Given the description of an element on the screen output the (x, y) to click on. 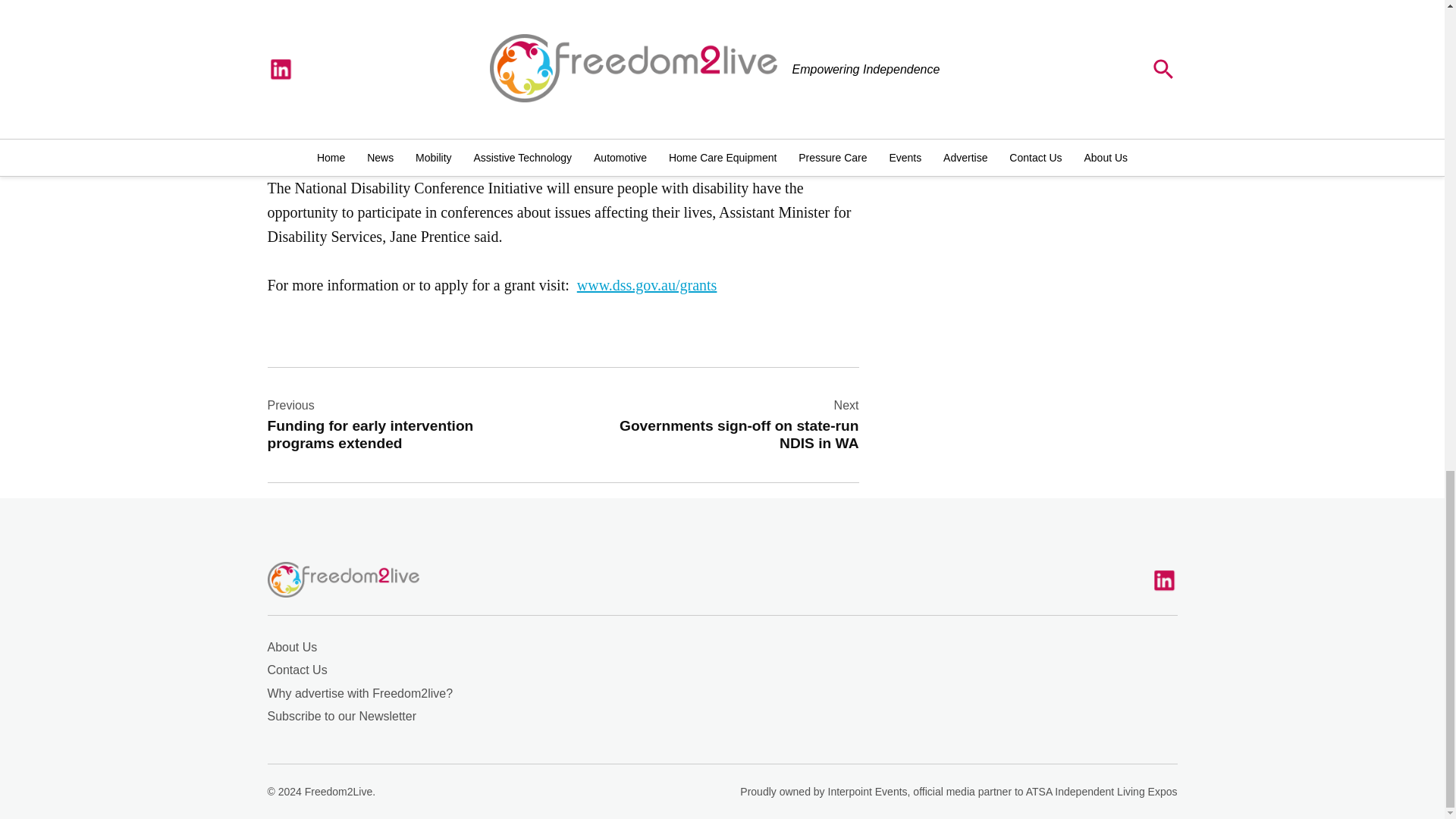
linkedin (399, 424)
